Given the description of an element on the screen output the (x, y) to click on. 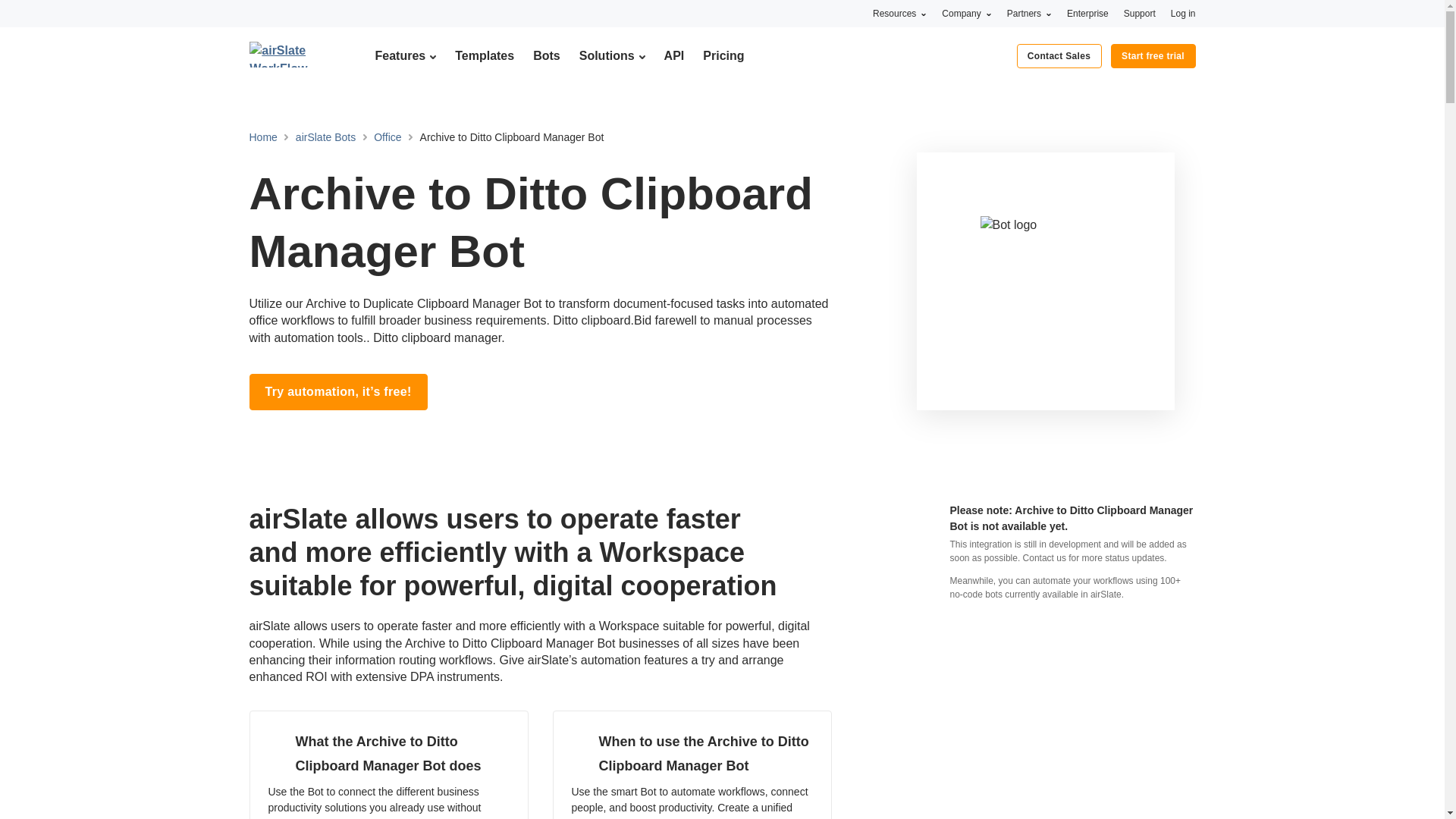
Support (1140, 13)
Log in (1182, 13)
Enterprise (1087, 13)
Resources (899, 13)
Company (966, 13)
Templates (483, 55)
Partners (1029, 13)
